Given the description of an element on the screen output the (x, y) to click on. 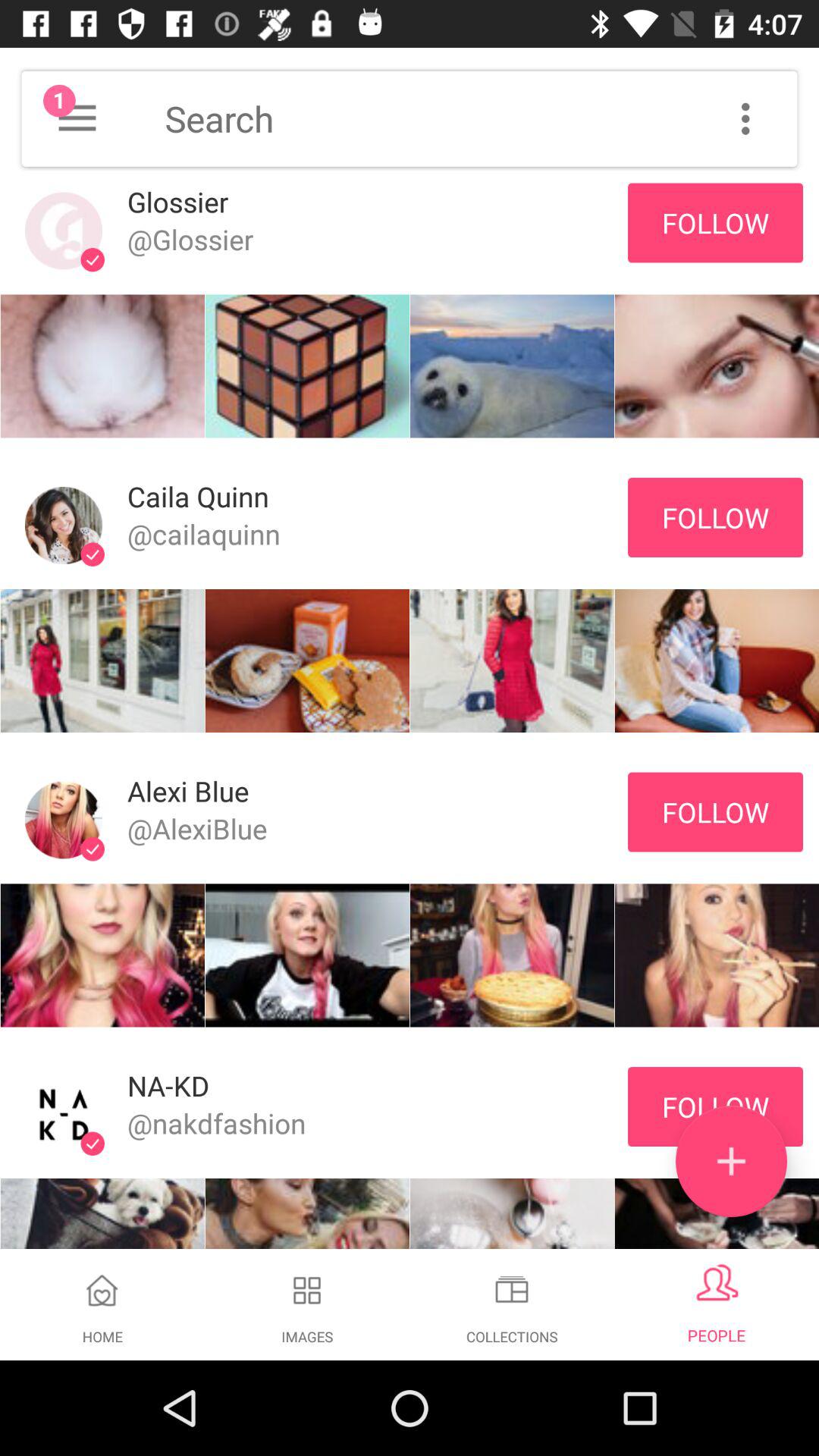
view search options (745, 118)
